Given the description of an element on the screen output the (x, y) to click on. 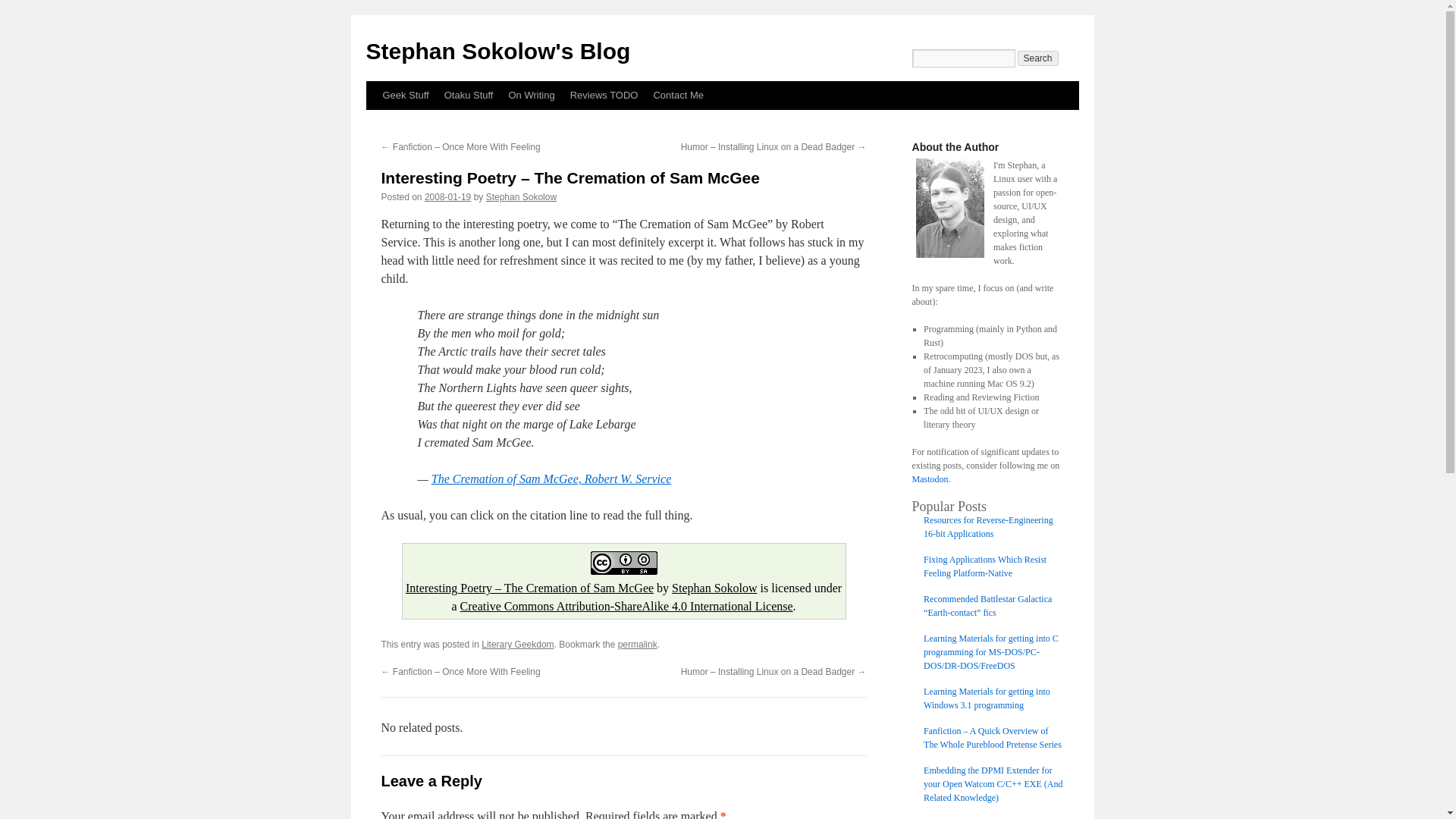
On Writing (531, 95)
13:59 (447, 196)
Search (1037, 58)
The Cremation of Sam McGee, Robert W. Service (550, 478)
2008-01-19 (447, 196)
Stephan Sokolow (714, 587)
Reviews TODO (604, 95)
Stephan Sokolow (521, 196)
Contact Me (677, 95)
Geek Stuff (404, 95)
